Given the description of an element on the screen output the (x, y) to click on. 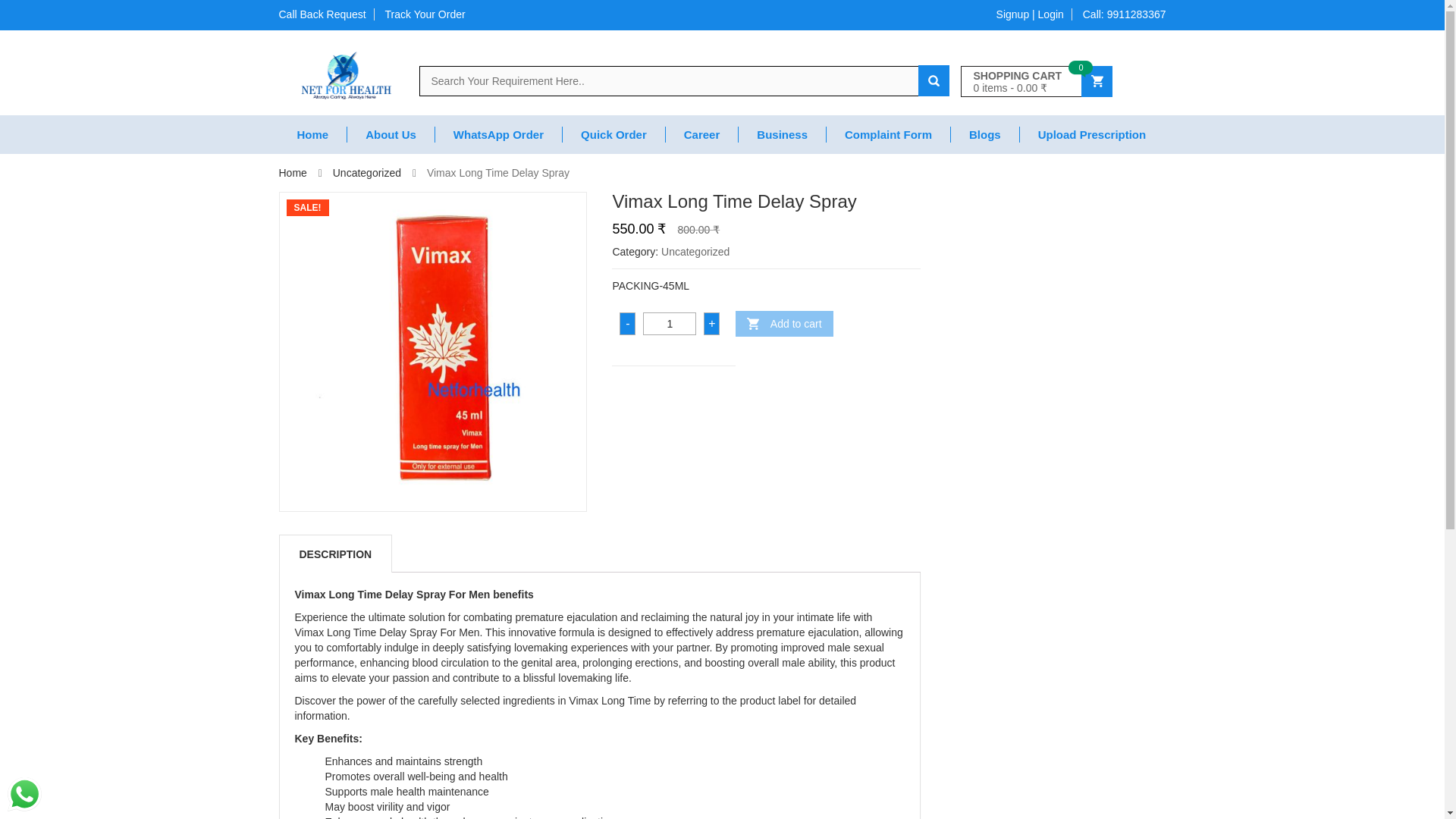
Track Your Order (421, 14)
Upload Prescription (1092, 134)
About Us (391, 134)
Uncategorized (695, 251)
1 (669, 323)
Business (782, 134)
Quick Order (613, 134)
Home (313, 134)
Business (782, 134)
Home (313, 134)
